Given the description of an element on the screen output the (x, y) to click on. 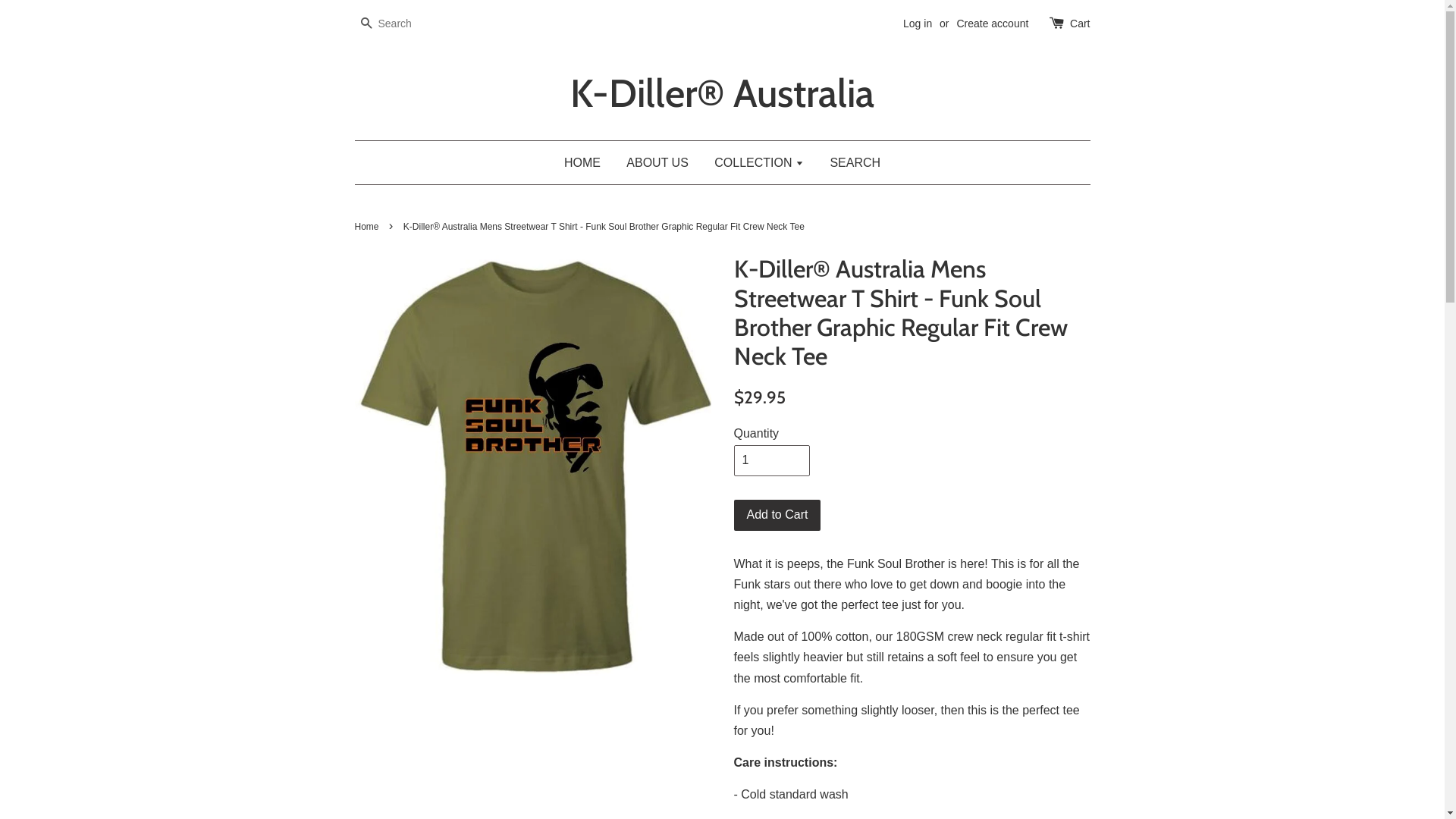
Log in Element type: text (917, 23)
Create account Element type: text (992, 23)
Home Element type: text (368, 226)
Cart Element type: text (1079, 24)
SEARCH Element type: text (849, 162)
Add to Cart Element type: text (777, 514)
COLLECTION Element type: text (758, 162)
HOME Element type: text (587, 162)
ABOUT US Element type: text (657, 162)
Search Element type: text (365, 24)
